Given the description of an element on the screen output the (x, y) to click on. 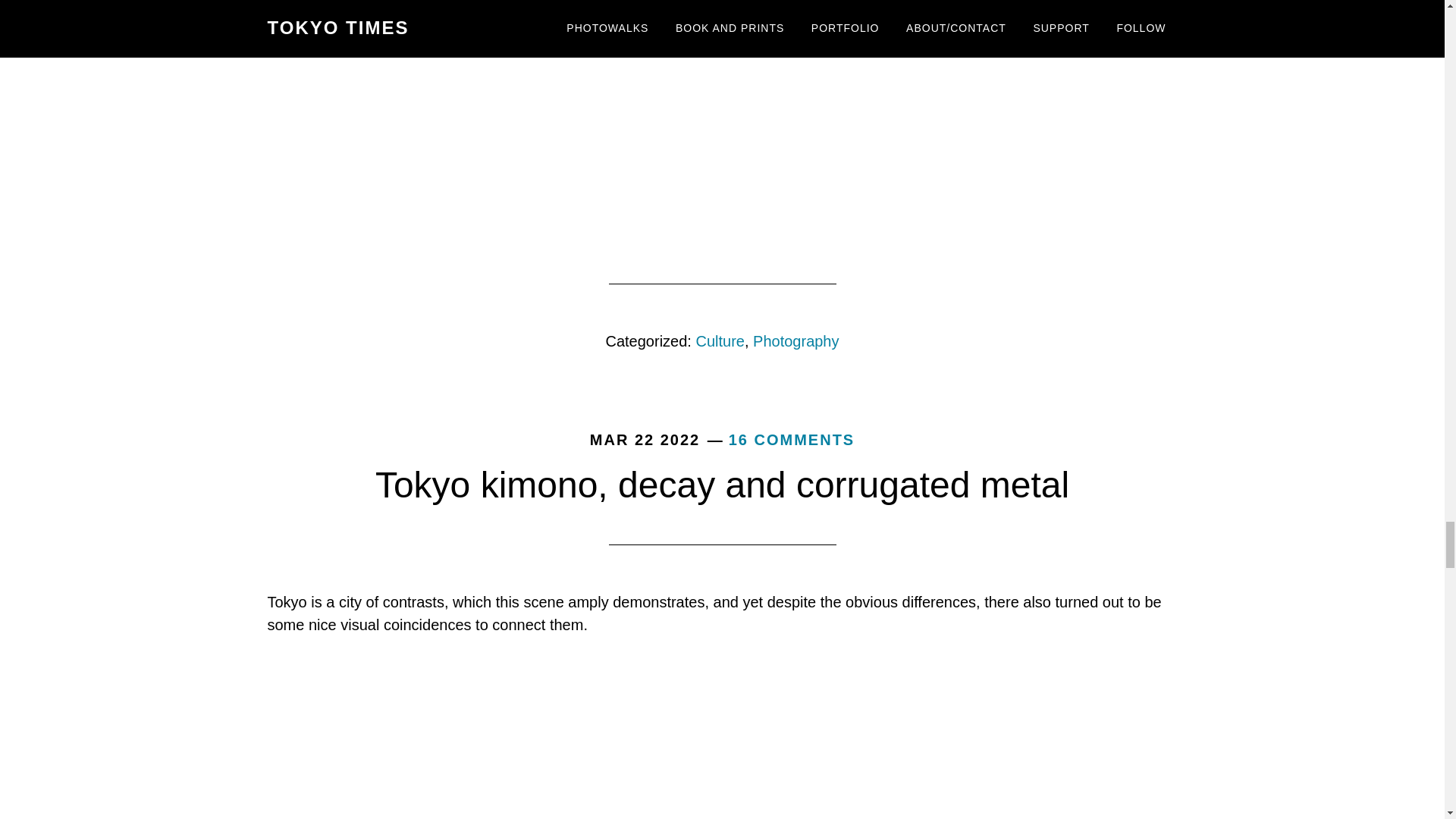
16 COMMENTS (791, 439)
Tokyo kimono, decay and corrugated metal (721, 485)
Culture (719, 340)
Photography (795, 340)
